Given the description of an element on the screen output the (x, y) to click on. 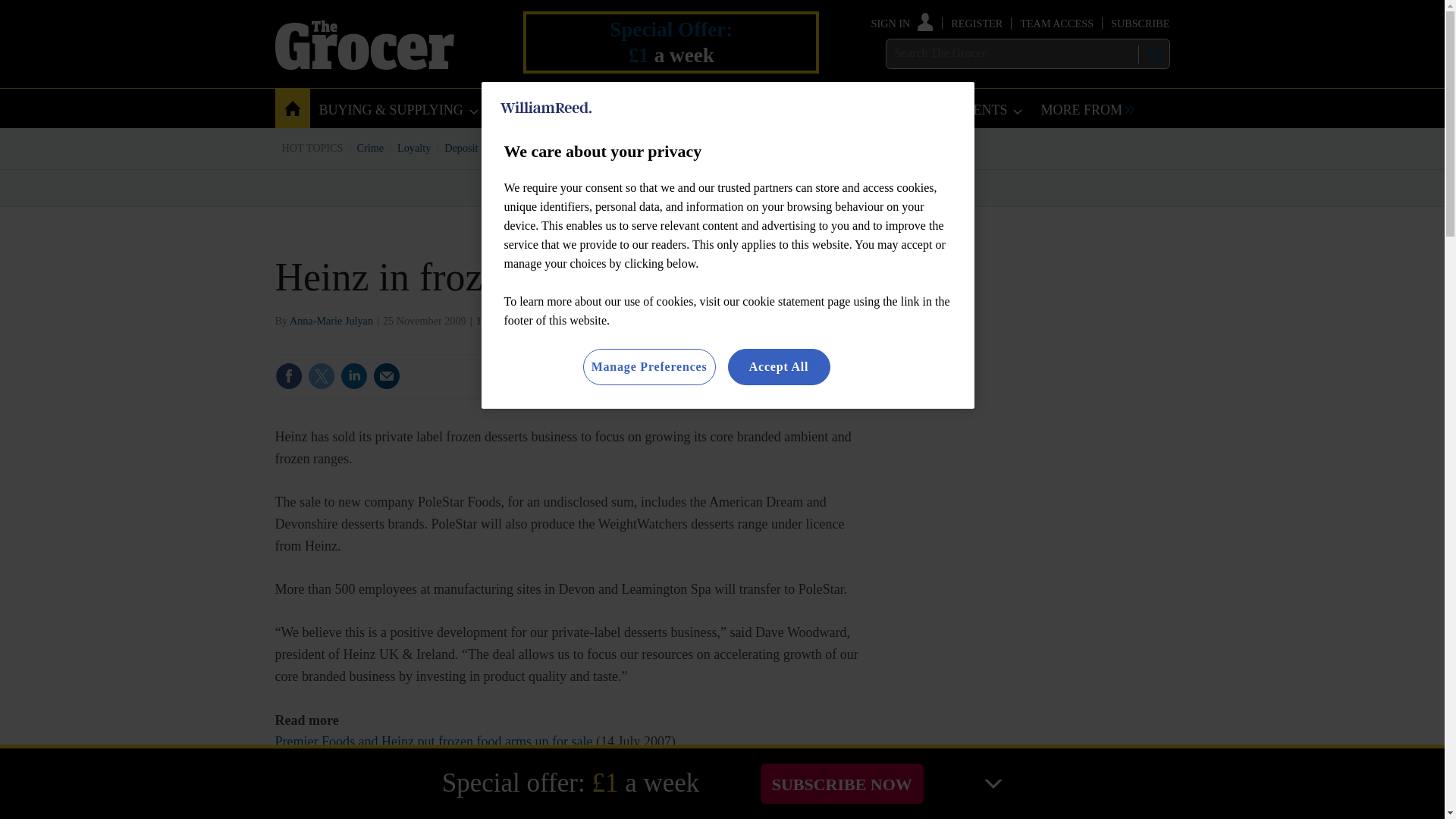
Email this article (386, 375)
Site name (363, 65)
Cost of Living Crisis (699, 147)
No comments (812, 385)
Share this on Facebook (288, 375)
REGISTER (976, 23)
William Reed (545, 107)
Share this on Linked in (352, 375)
Crime (370, 147)
KVI price tracker (602, 147)
TEAM ACCESS (1056, 23)
Share this on Twitter (320, 375)
SUBSCRIBE NOW (841, 783)
SEARCH (1153, 53)
Loyalty (414, 147)
